Given the description of an element on the screen output the (x, y) to click on. 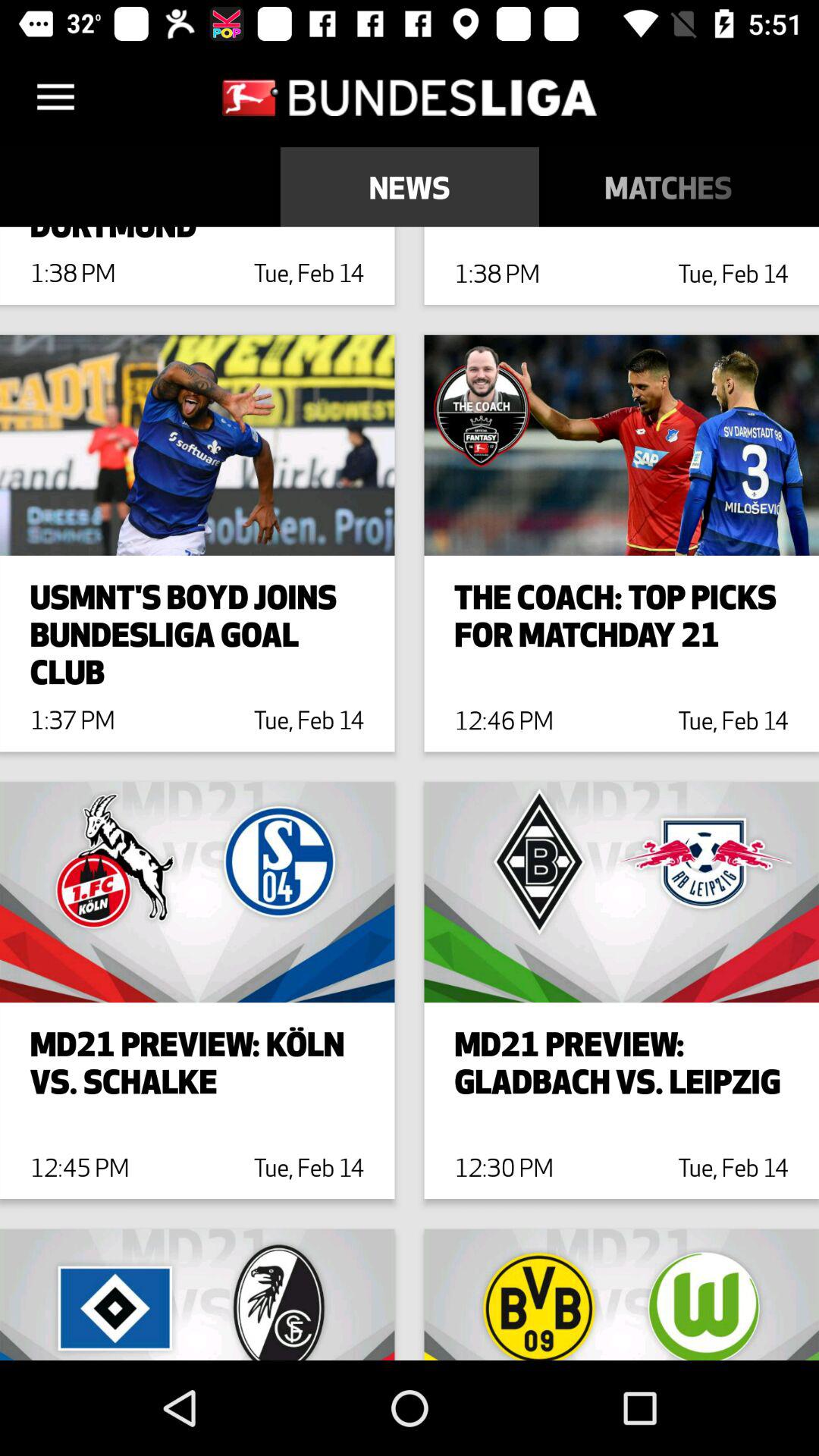
launch item above the papadopoulos hsv s item (668, 186)
